Given the description of an element on the screen output the (x, y) to click on. 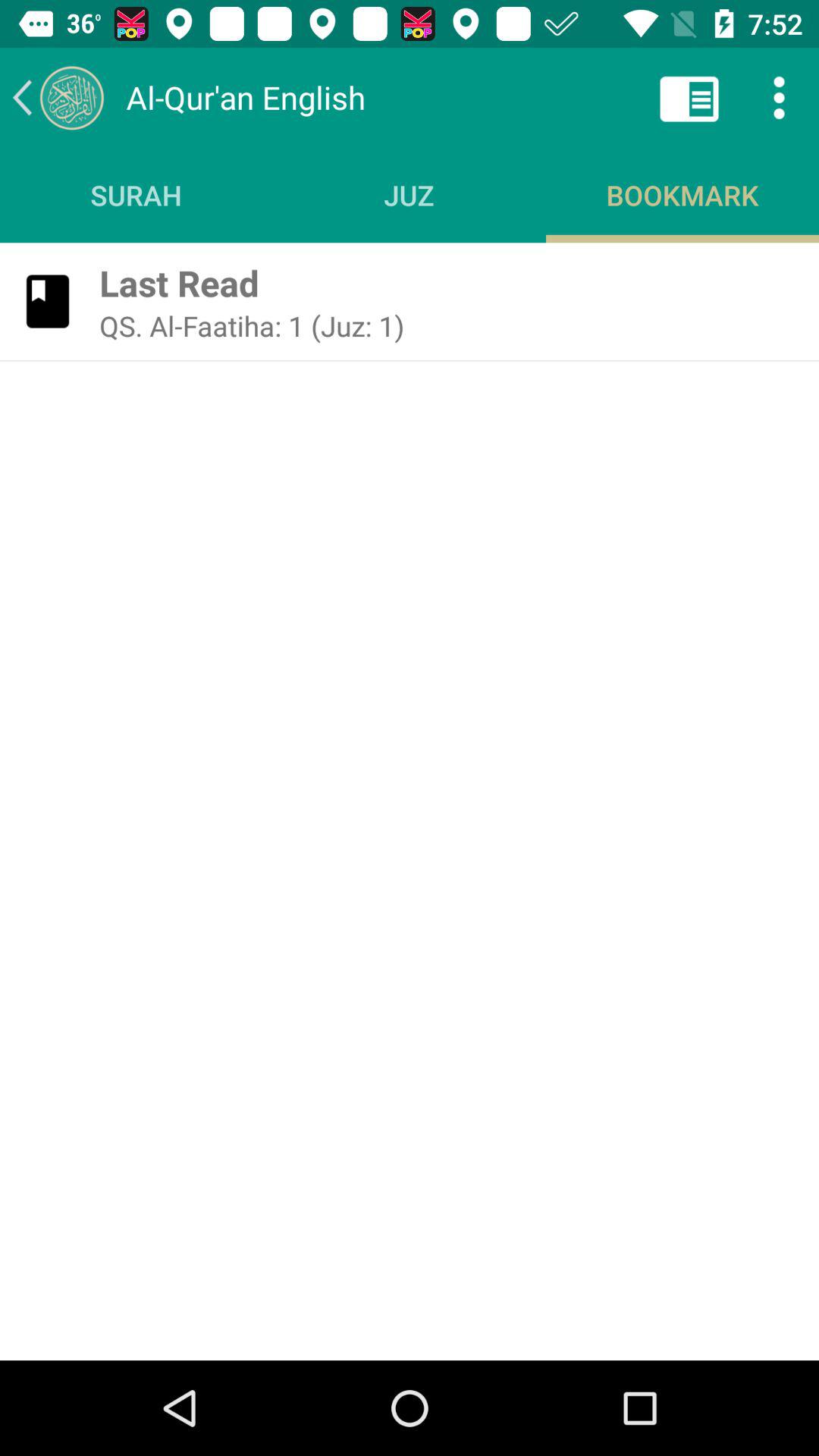
options menu button (779, 97)
